Given the description of an element on the screen output the (x, y) to click on. 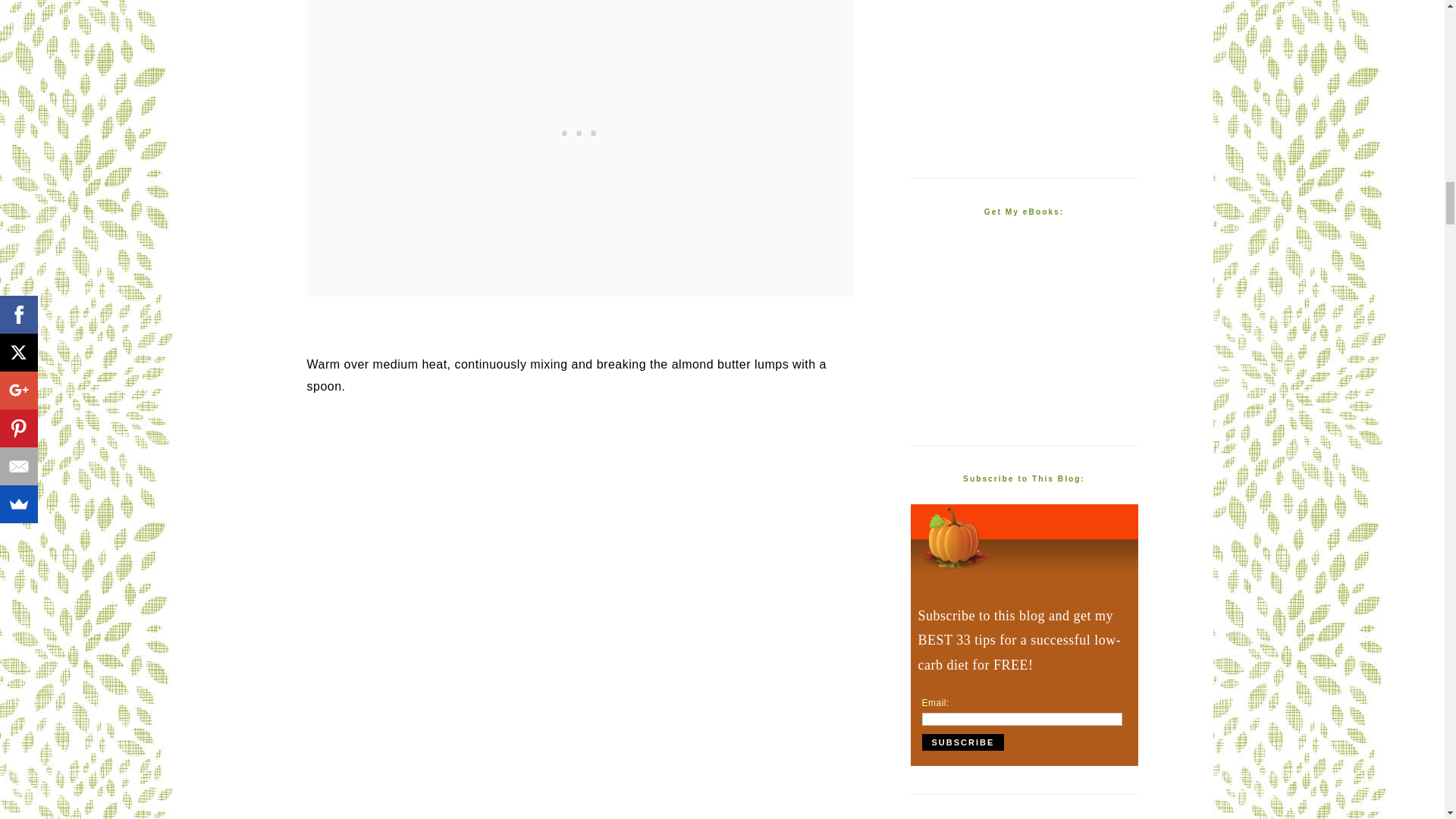
Subscribe (962, 742)
